Given the description of an element on the screen output the (x, y) to click on. 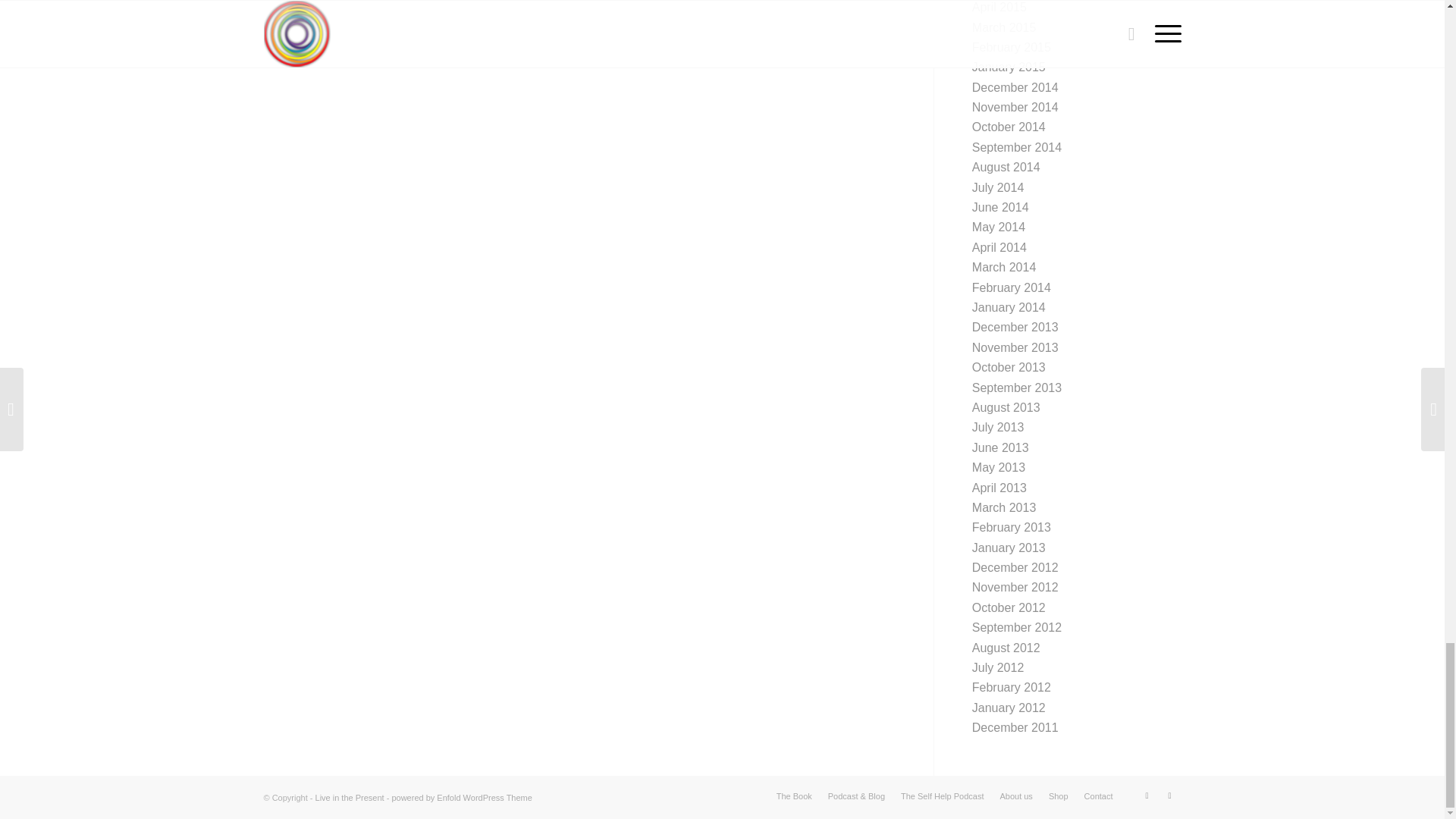
Dribbble (1169, 794)
Twitter (1146, 794)
